Given the description of an element on the screen output the (x, y) to click on. 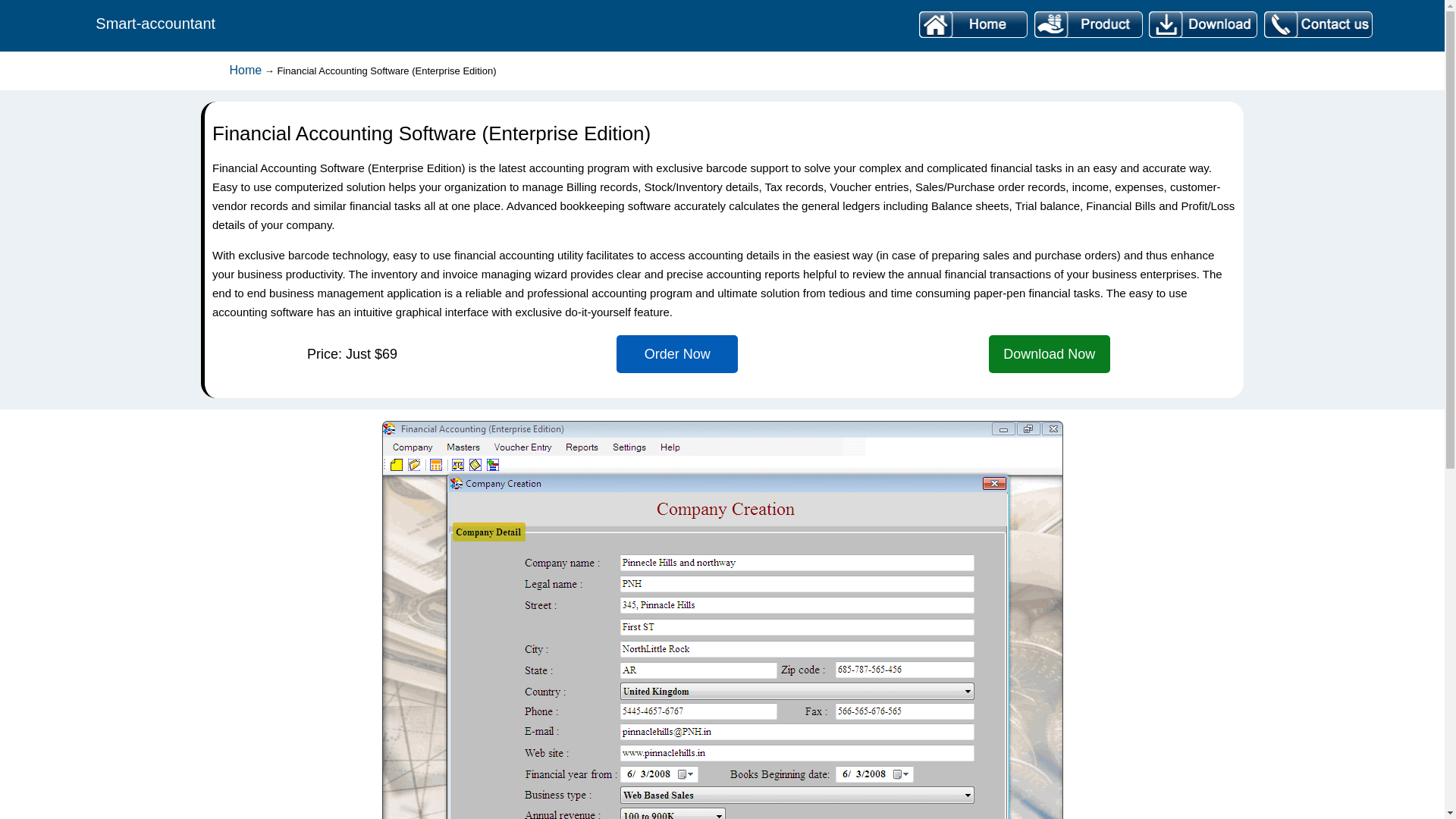
Contact Us (1316, 38)
Download Now (1048, 355)
Order Now (676, 355)
Home (245, 69)
Order Now (676, 355)
Download Now (1048, 355)
Download (1202, 38)
Home (972, 38)
Home (245, 69)
Smart-accountant (155, 25)
Product (1086, 38)
Smart-accountant (155, 25)
